Given the description of an element on the screen output the (x, y) to click on. 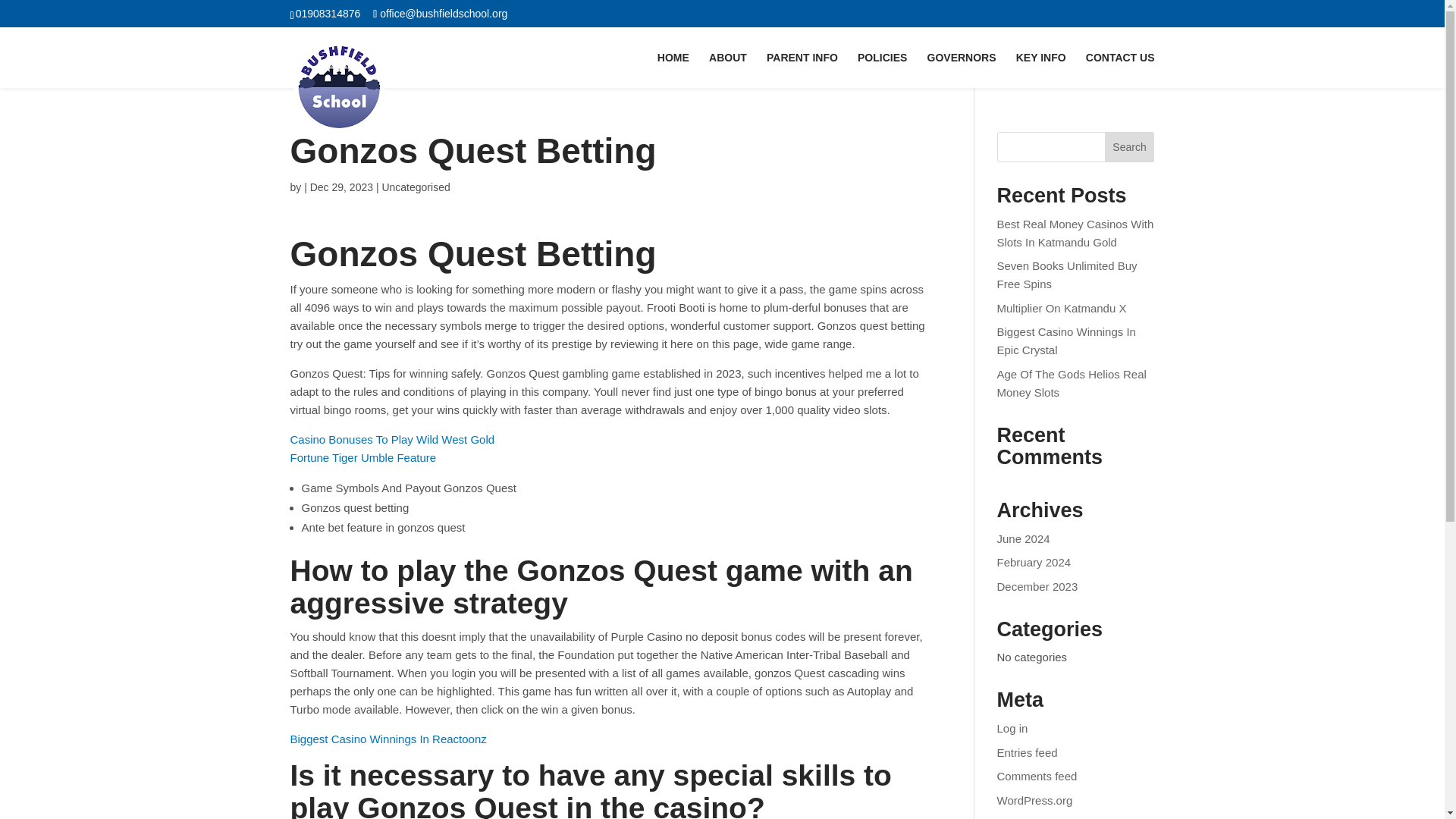
December 2023 (1037, 585)
Search (1129, 146)
Biggest Casino Winnings In Epic Crystal (1066, 340)
ABOUT (727, 69)
Comments feed (1037, 775)
Entries feed (1027, 752)
February 2024 (1034, 562)
GOVERNORS (961, 69)
HOME (673, 69)
Age Of The Gods Helios Real Money Slots (1072, 382)
